Given the description of an element on the screen output the (x, y) to click on. 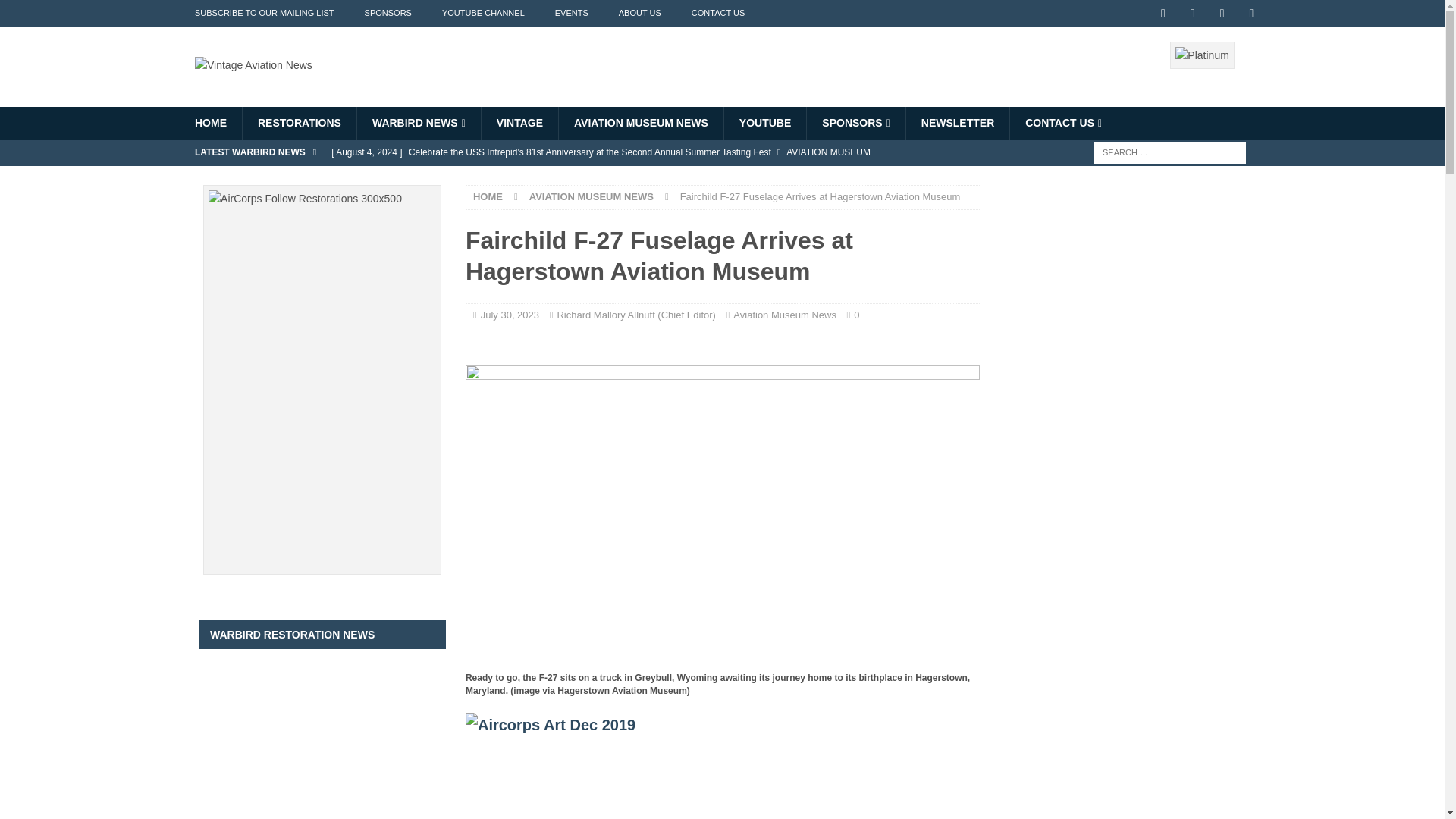
SPONSORS (387, 13)
ABOUT US (640, 13)
WARBIRD NEWS (418, 122)
HOME (210, 122)
SUBSCRIBE TO OUR MAILING LIST (264, 13)
YOUTUBE (764, 122)
RESTORATIONS (298, 122)
CONTACT US (1062, 122)
SPONSORS (855, 122)
Platinum (1201, 54)
Aircorps Art Dec 2019 (722, 744)
EVENTS (572, 13)
CONTACT US (718, 13)
AVIATION MUSEUM NEWS (640, 122)
NEWSLETTER (957, 122)
